Given the description of an element on the screen output the (x, y) to click on. 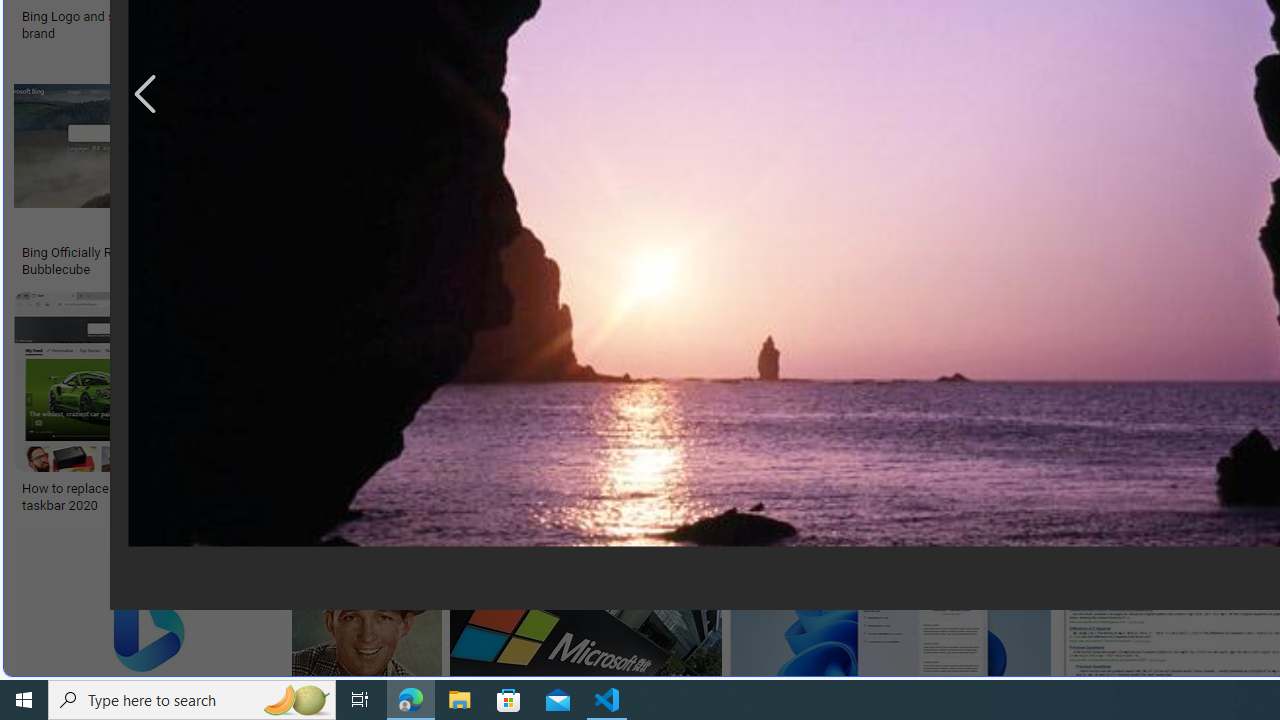
Bing - SEOLend (489, 253)
Bing - SEOLendSave (493, 169)
How to replace Bing in Windows 10 search on the taskbar 2020 (164, 497)
